Given the description of an element on the screen output the (x, y) to click on. 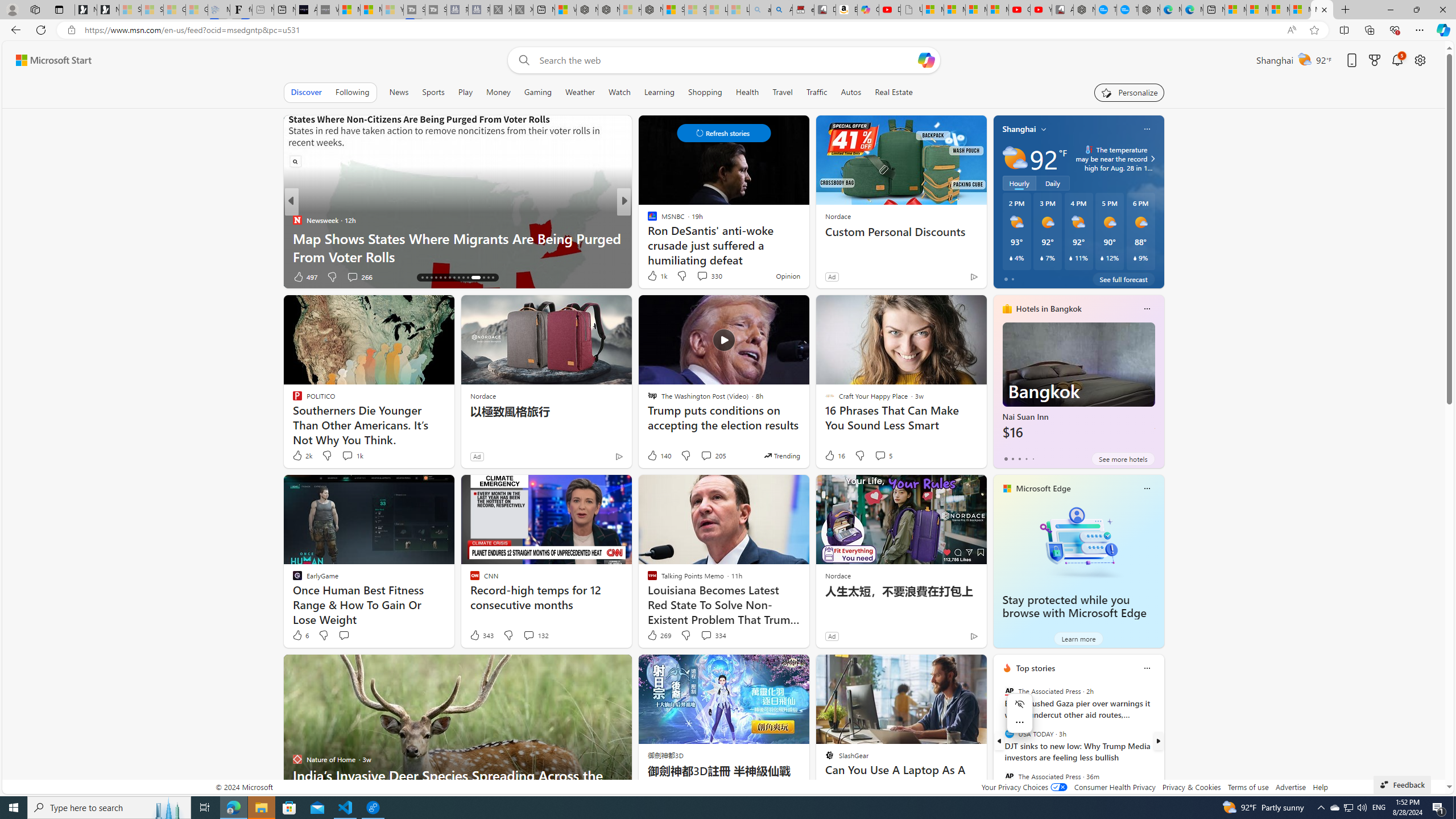
USA TODAY (1008, 733)
269 Like (658, 634)
View comments 213 Comment (6, 276)
Skip to footer (46, 59)
View comments 334 Comment (712, 634)
Shanghai (1018, 128)
ABC News (647, 219)
Hide this story (952, 668)
Personalize your feed" (1129, 92)
